Given the description of an element on the screen output the (x, y) to click on. 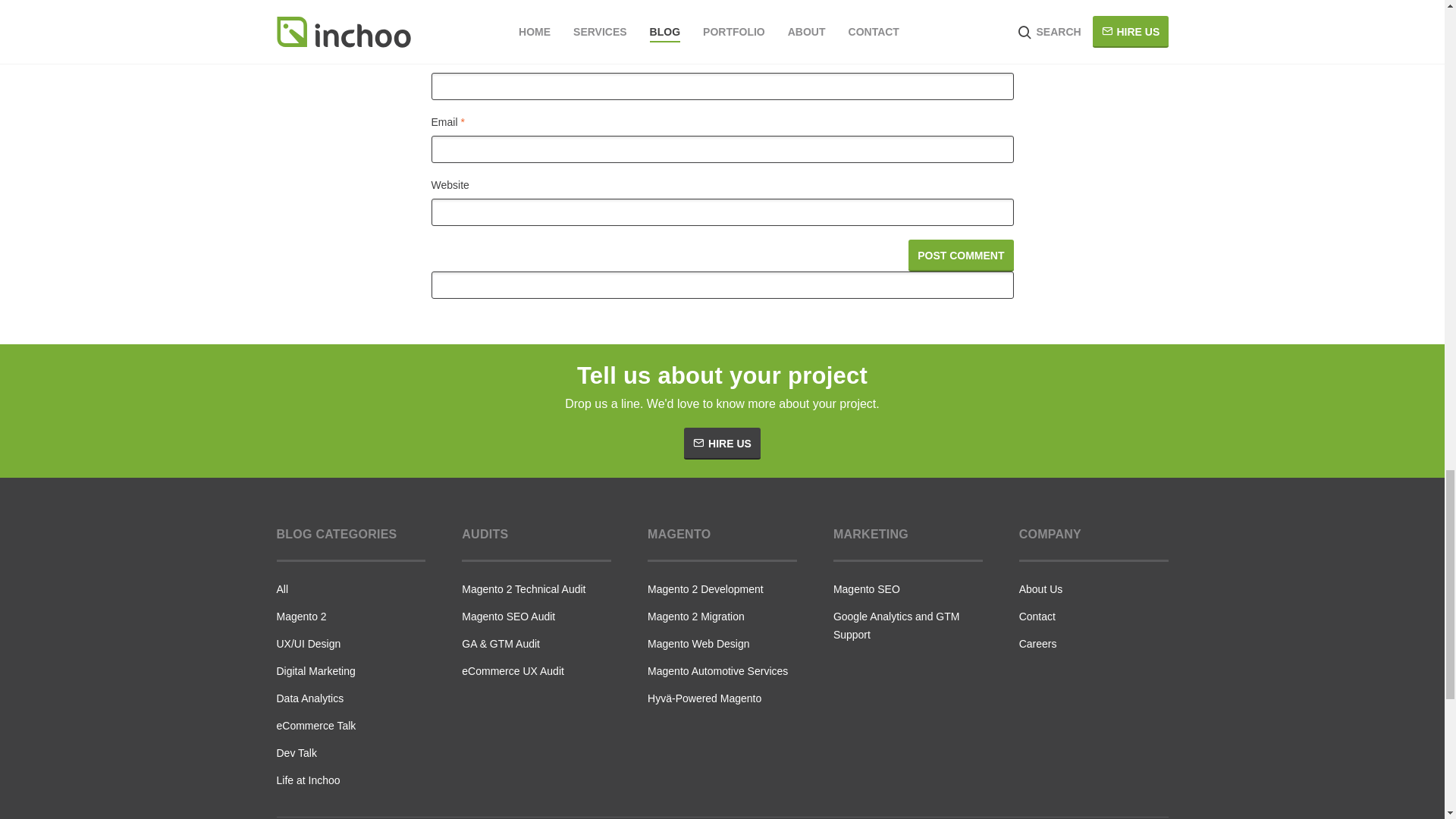
Post Comment (960, 255)
